Given the description of an element on the screen output the (x, y) to click on. 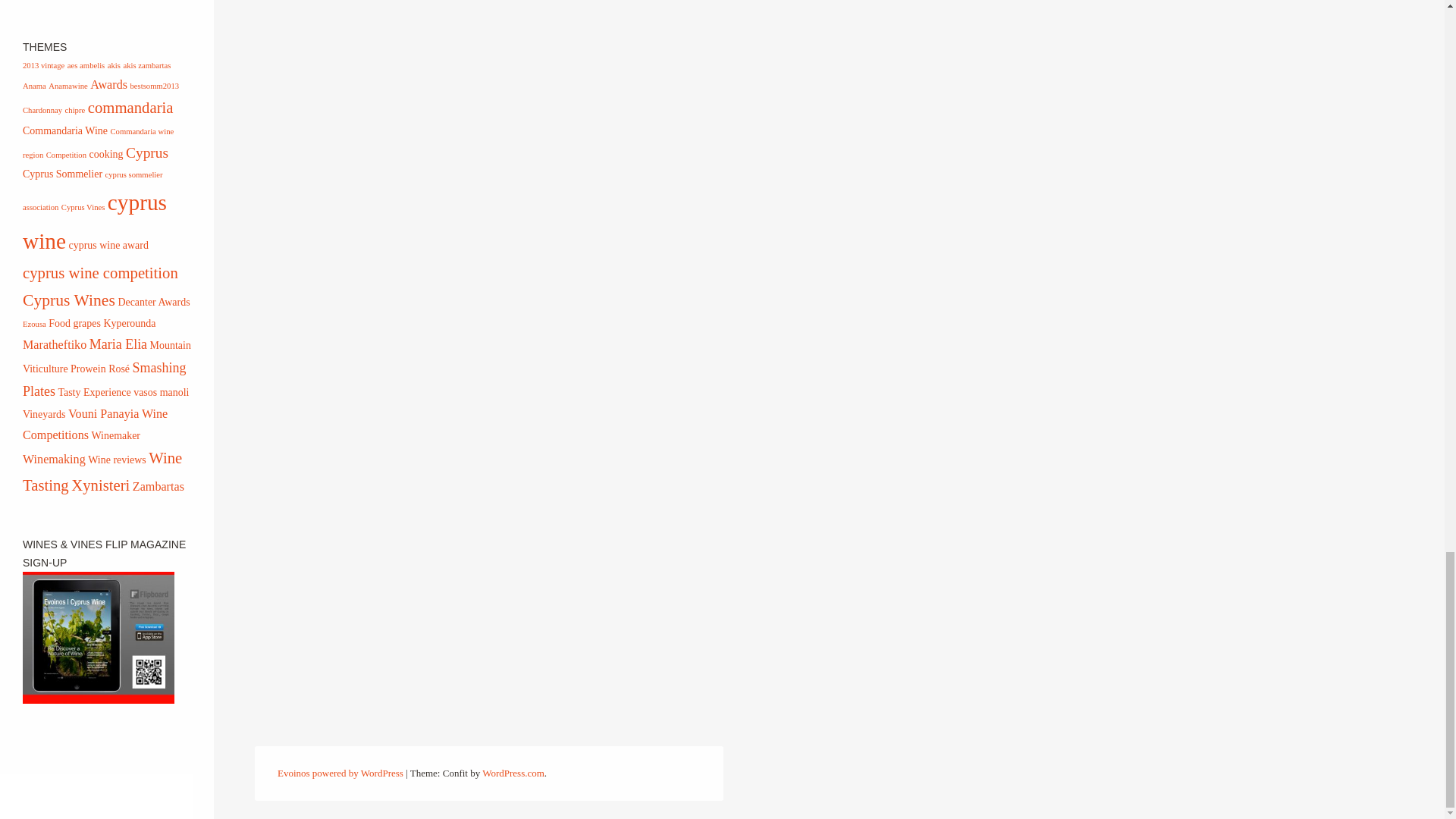
Evoinos Collective Platform (340, 772)
2013 vintage (43, 65)
